Given the description of an element on the screen output the (x, y) to click on. 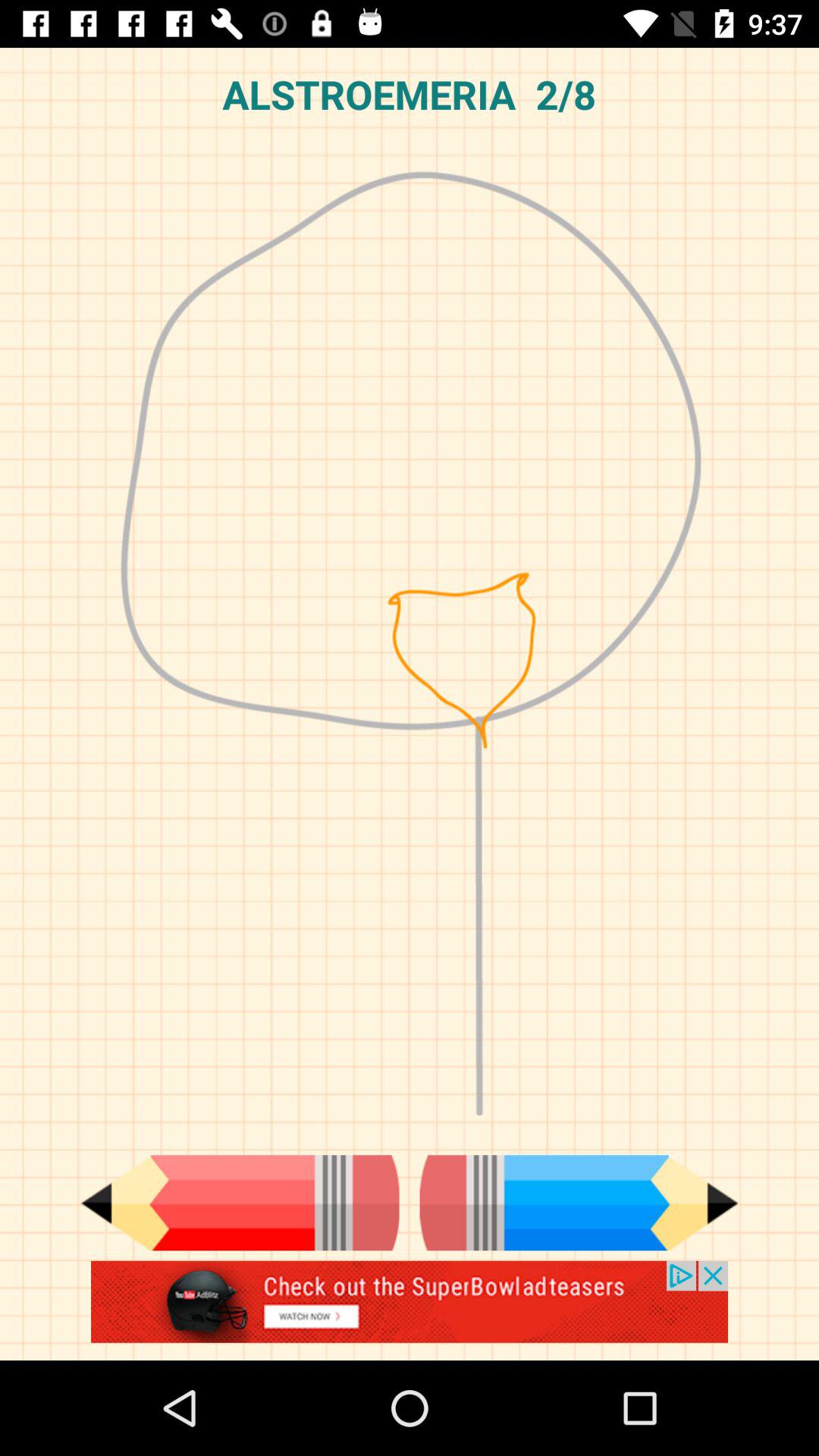
select pencil to draw (578, 1202)
